Given the description of an element on the screen output the (x, y) to click on. 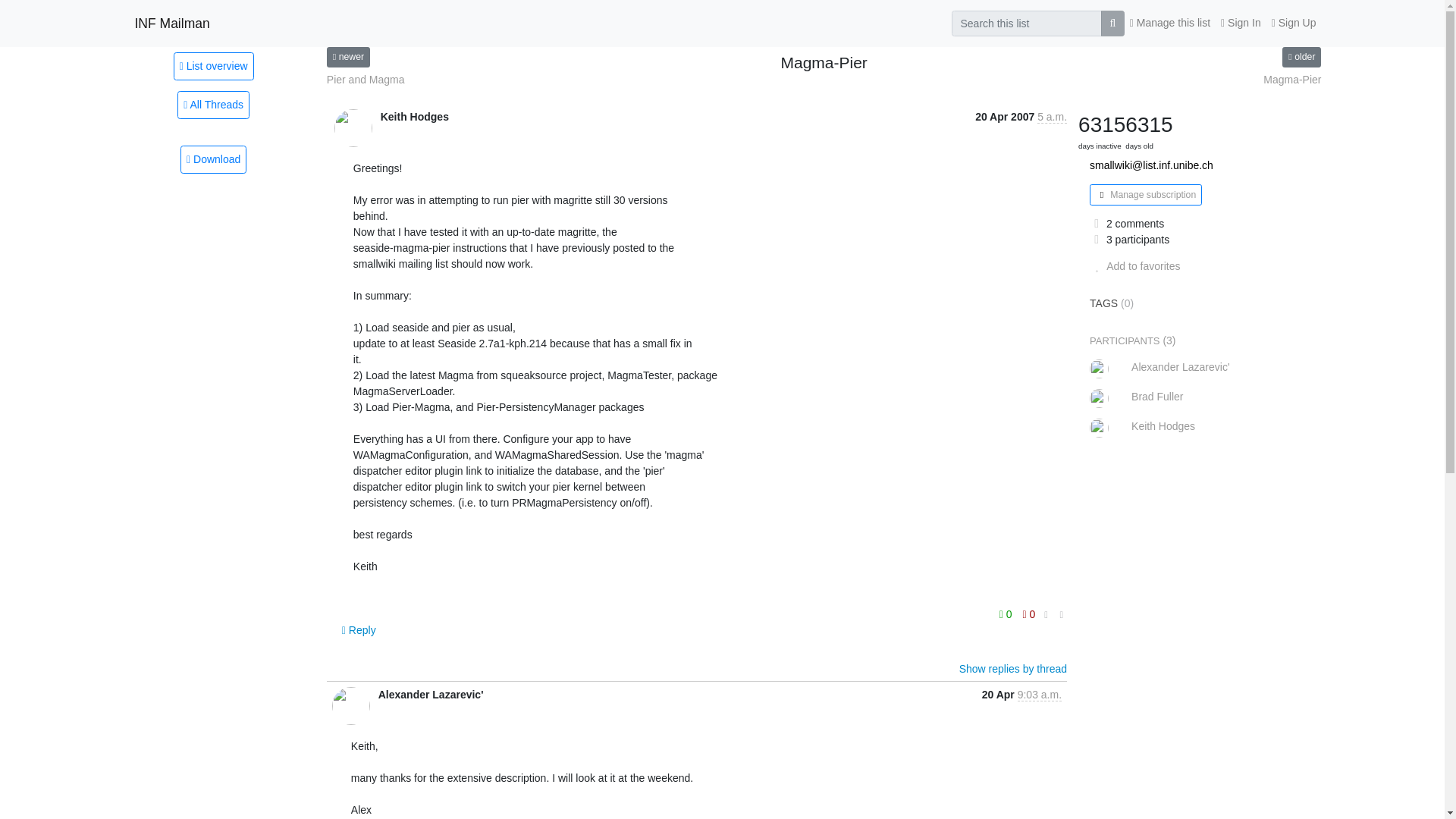
older (1301, 56)
Pier and Magma (365, 79)
Pier and Magma (365, 79)
newer (347, 56)
This thread in gzipped mbox format (213, 159)
Pier and Magma (347, 56)
Sign in to reply online (359, 629)
List overview (213, 65)
Magma-Pier (1291, 79)
Sign Up (1294, 22)
Magma-Pier (1301, 56)
Magma-Pier (1291, 79)
Manage this list (1169, 22)
You must be logged-in to vote. (1007, 614)
INF Mailman (172, 22)
